Given the description of an element on the screen output the (x, y) to click on. 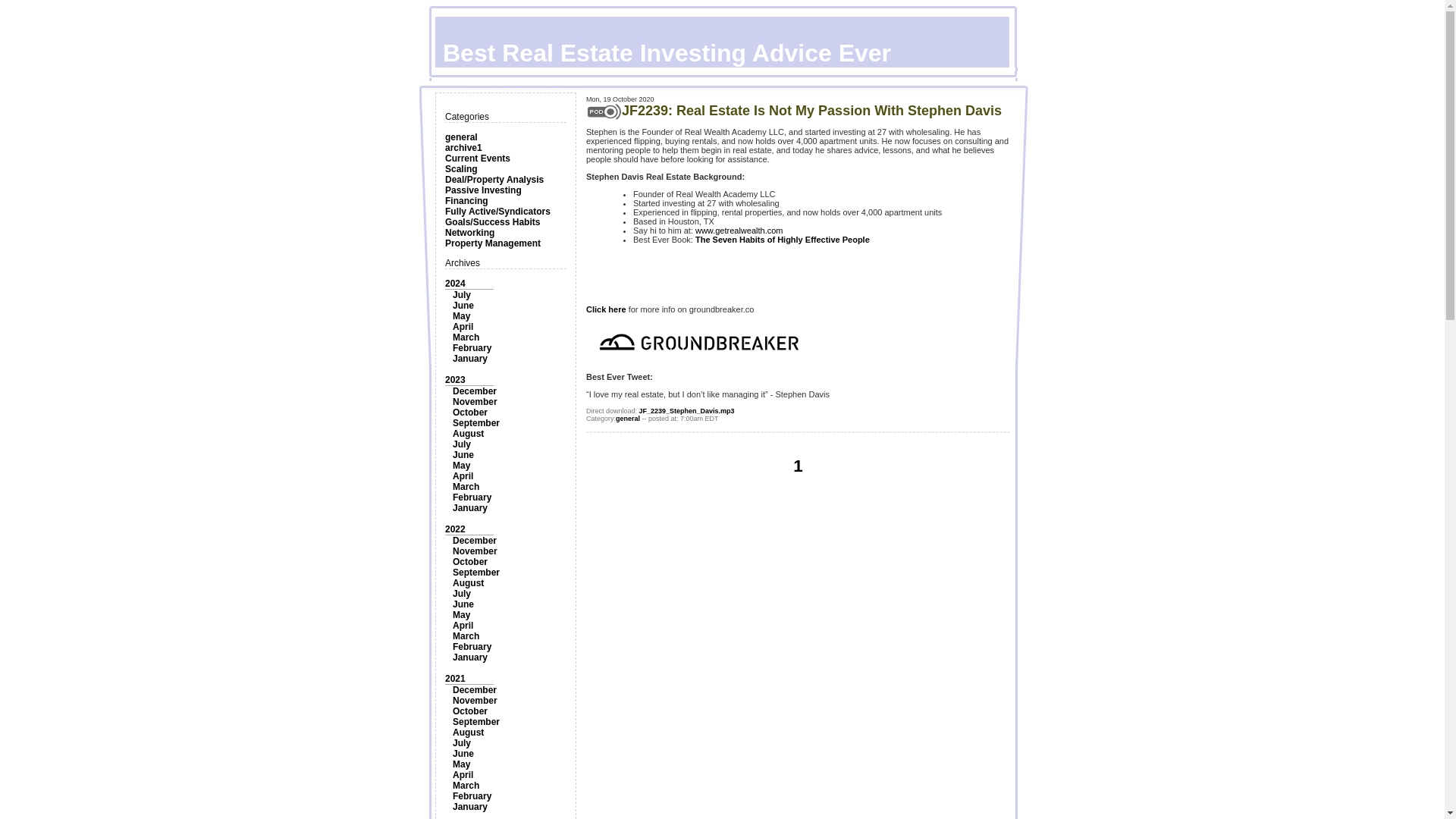
September (475, 572)
April (462, 475)
2022 (455, 529)
Passive Investing (483, 190)
March (465, 486)
archive1 (463, 147)
July (461, 593)
Scaling (461, 168)
May (461, 465)
February (472, 347)
August (467, 433)
July (461, 294)
December (474, 540)
October (469, 412)
Current Events (478, 158)
